Given the description of an element on the screen output the (x, y) to click on. 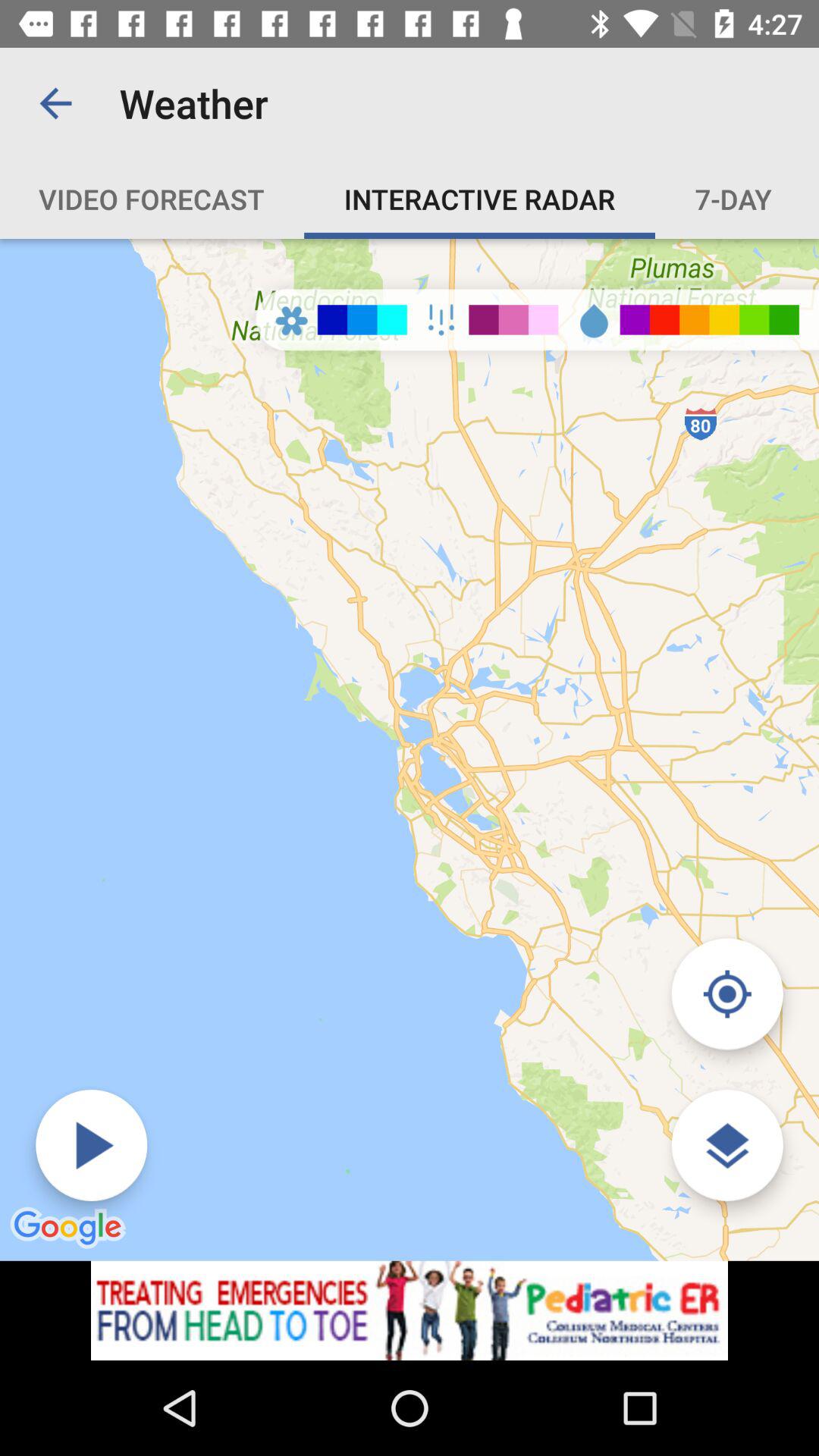
direction (727, 993)
